Given the description of an element on the screen output the (x, y) to click on. 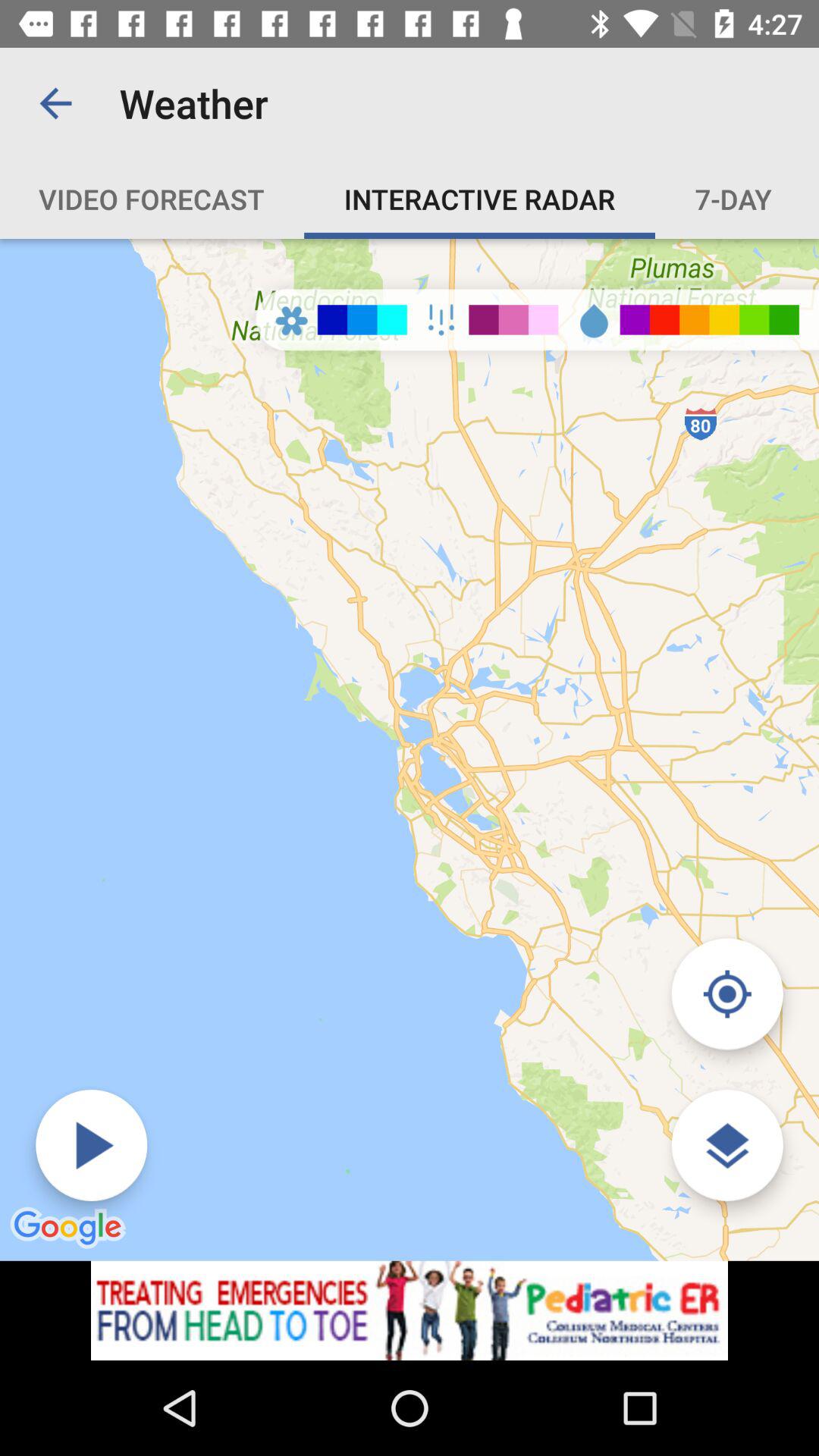
direction (727, 993)
